Given the description of an element on the screen output the (x, y) to click on. 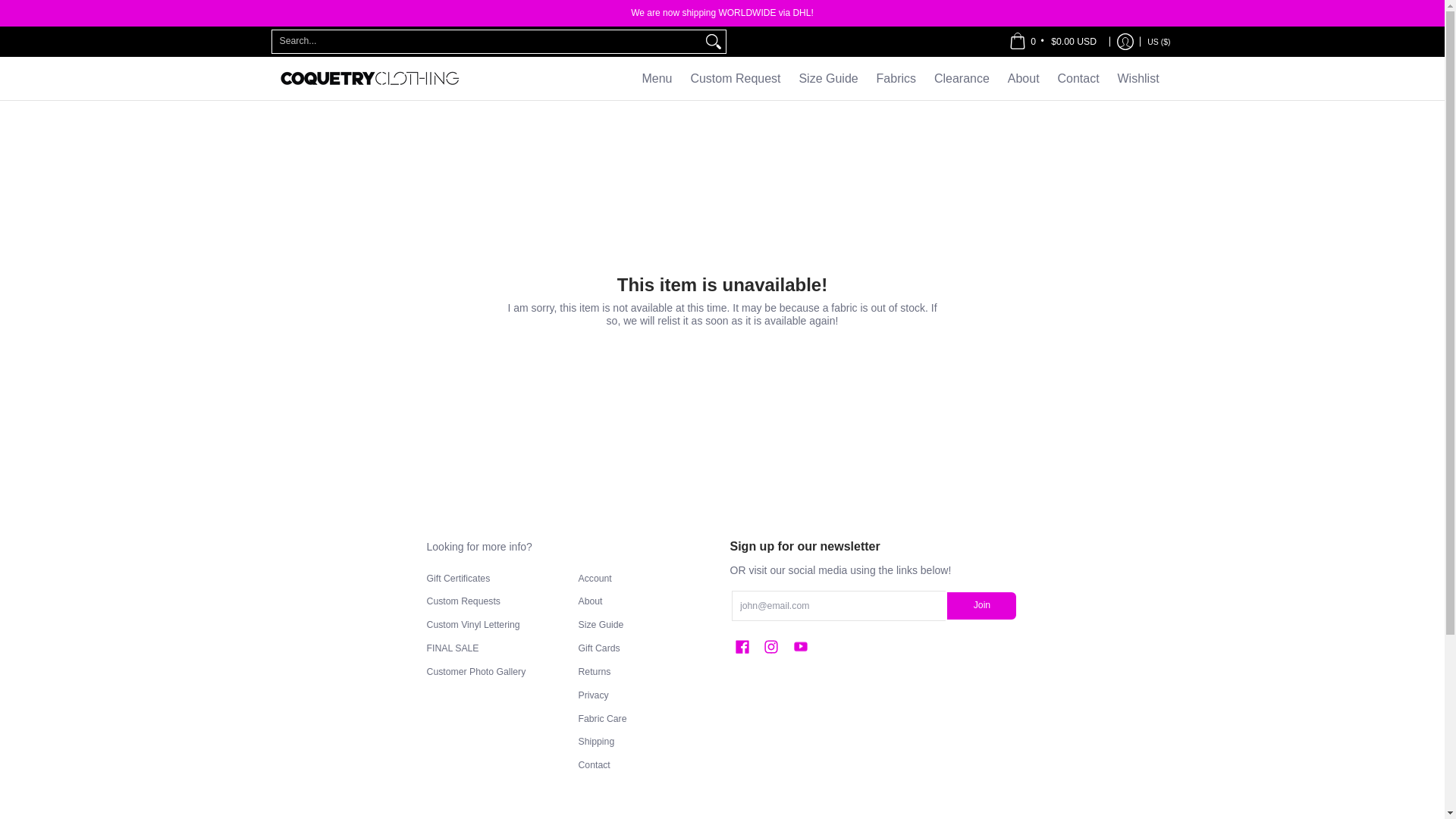
CA (1067, 3)
Log in (1124, 41)
BQ (1099, 58)
Coquetry Clothing (369, 77)
Menu (656, 77)
CV (1076, 28)
Cart (1053, 41)
